Given the description of an element on the screen output the (x, y) to click on. 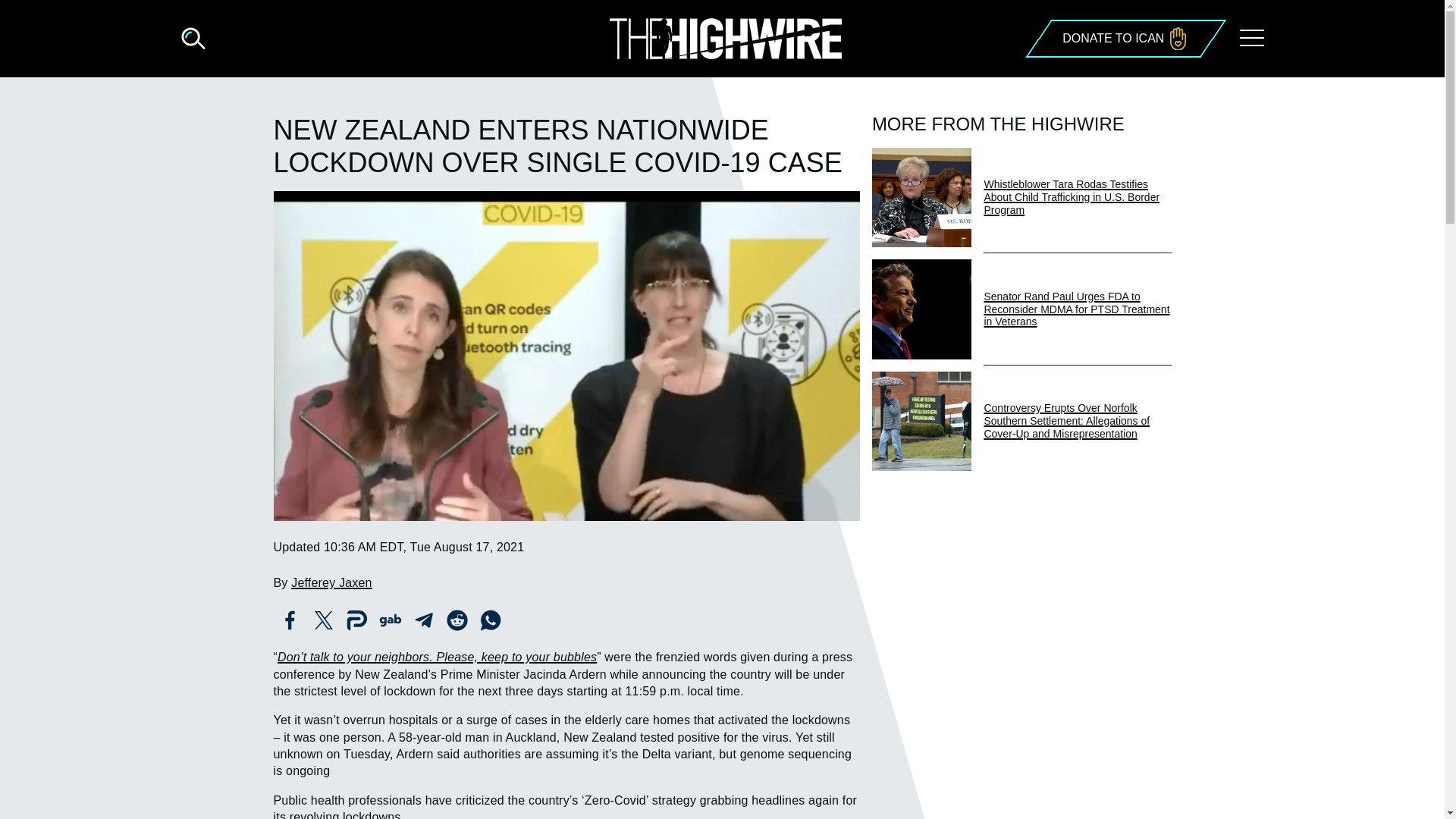
DONATE TO ICAN (1123, 38)
Share on Telegram (422, 620)
Share on Facebook (289, 620)
Share on Reddit (456, 620)
Share on X (322, 620)
Jefferey Jaxen (331, 582)
Share on Gab (389, 620)
